Given the description of an element on the screen output the (x, y) to click on. 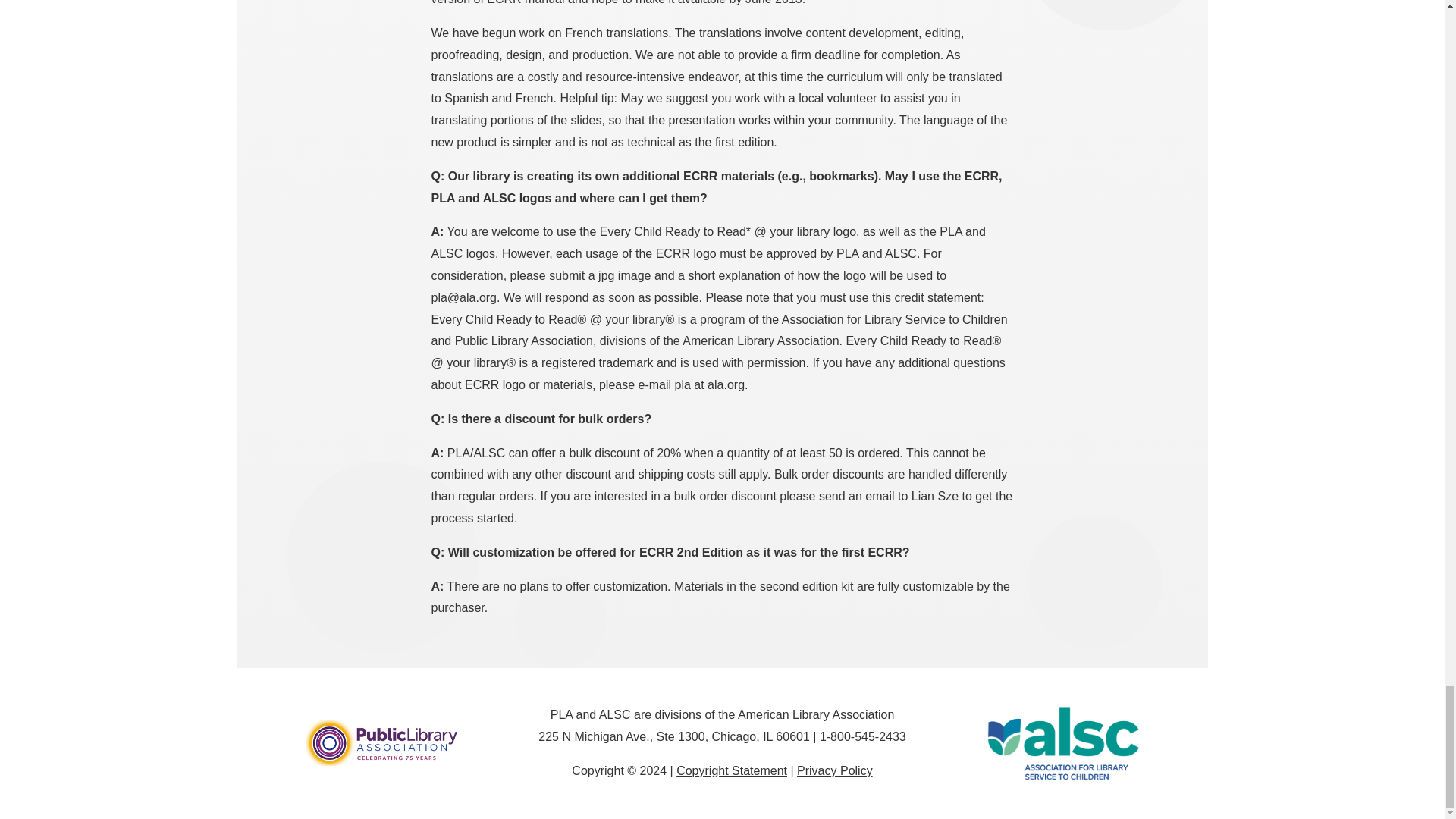
Privacy Policy (834, 770)
Copyright Statement (732, 770)
Public Library Association Logo - Celebrating 75 Years (381, 742)
American Library Association (815, 714)
Association for Library Service to Children Logo (1062, 743)
